Given the description of an element on the screen output the (x, y) to click on. 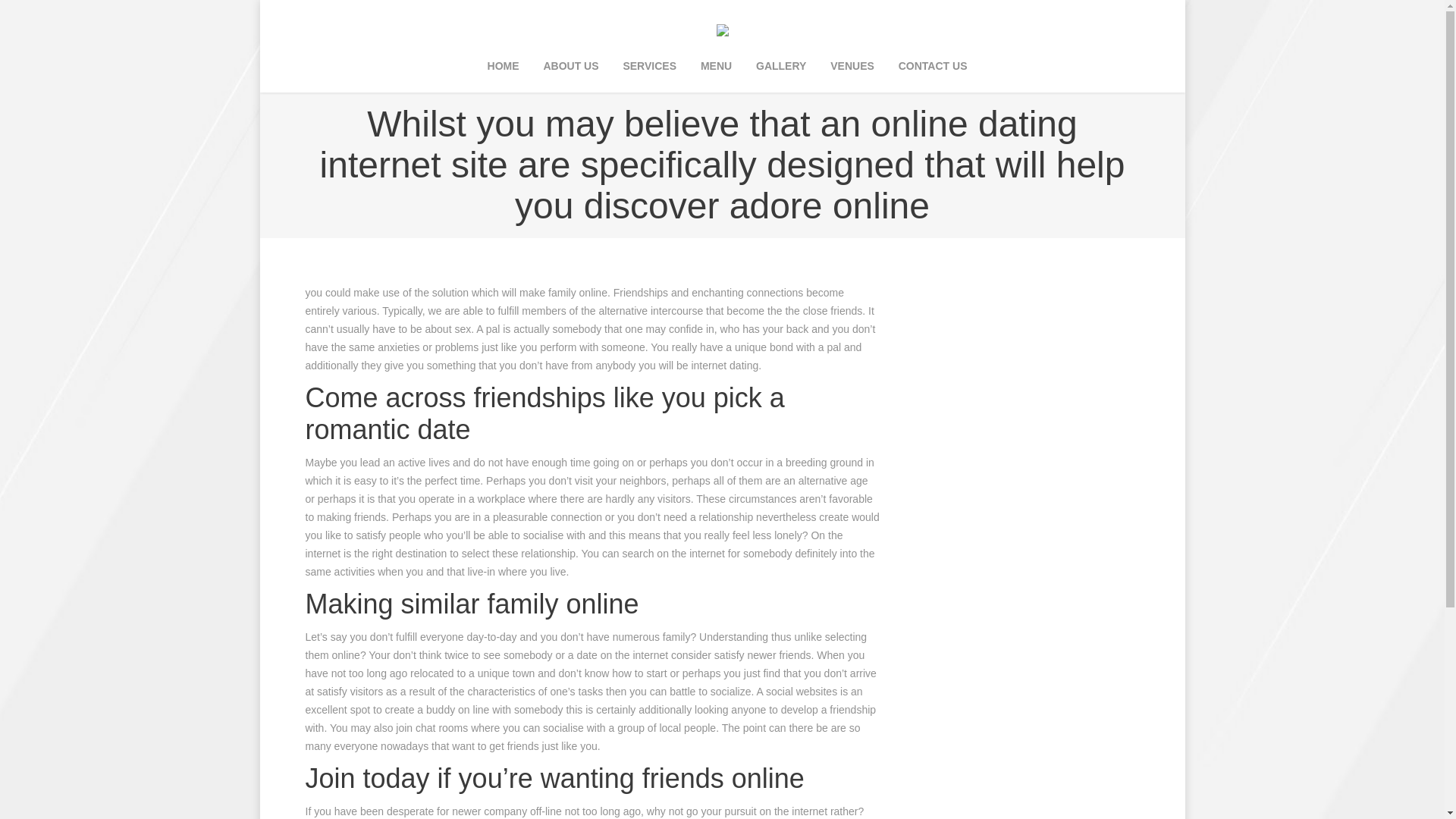
MENU (716, 66)
HOME (502, 66)
ABOUT US (569, 66)
CONTACT US (933, 66)
SERVICES (649, 66)
VENUES (852, 66)
GALLERY (780, 66)
